Given the description of an element on the screen output the (x, y) to click on. 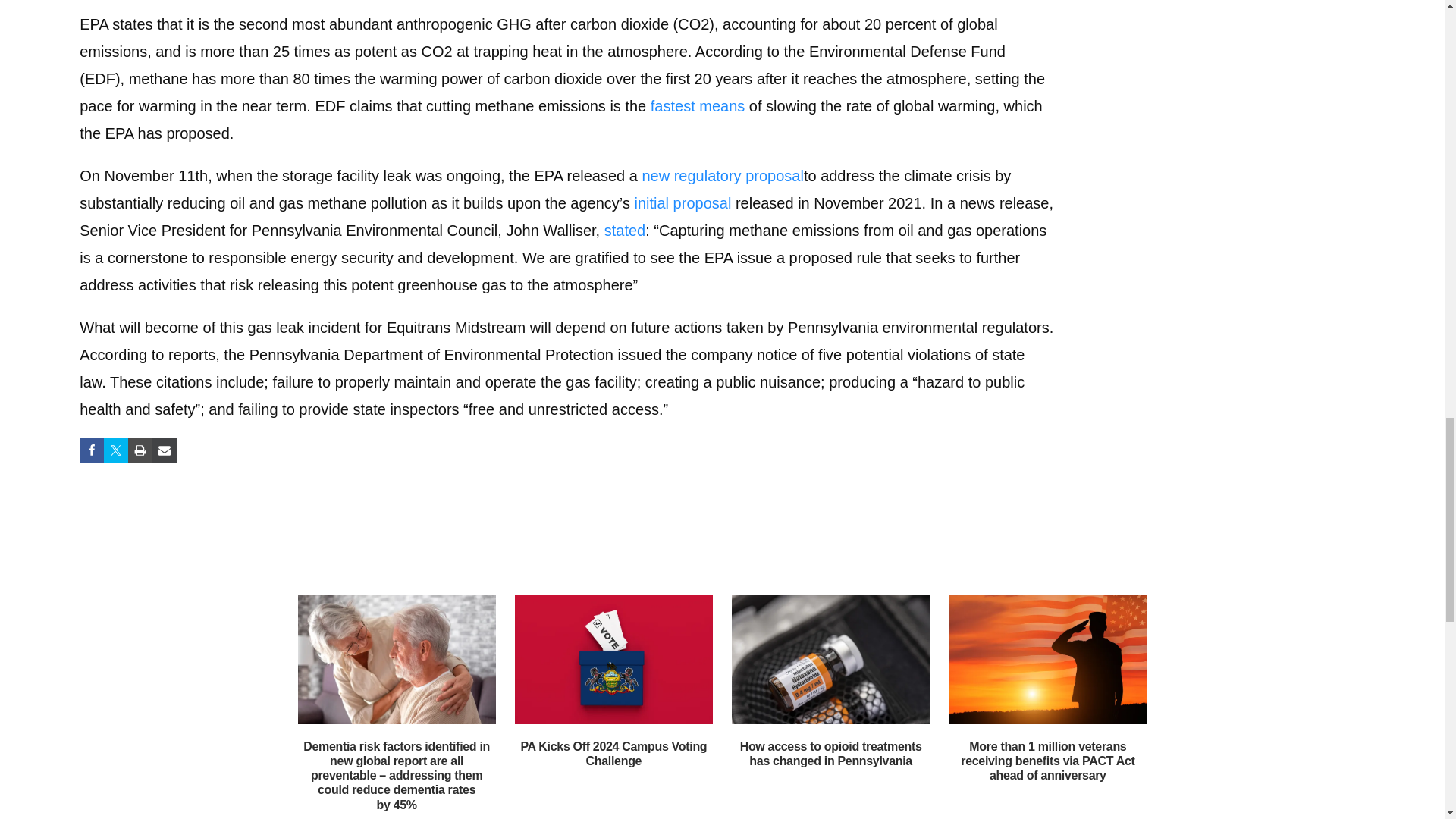
Print this Page (140, 450)
stated (624, 230)
How access to opioid treatments has changed in Pennsylvania (830, 753)
Share via Email (164, 450)
fastest means (697, 105)
Share on Twitter (115, 450)
PA Kicks Off 2024 Campus Voting Challenge (612, 753)
initial proposal (681, 202)
Share on Facebook (91, 450)
